Given the description of an element on the screen output the (x, y) to click on. 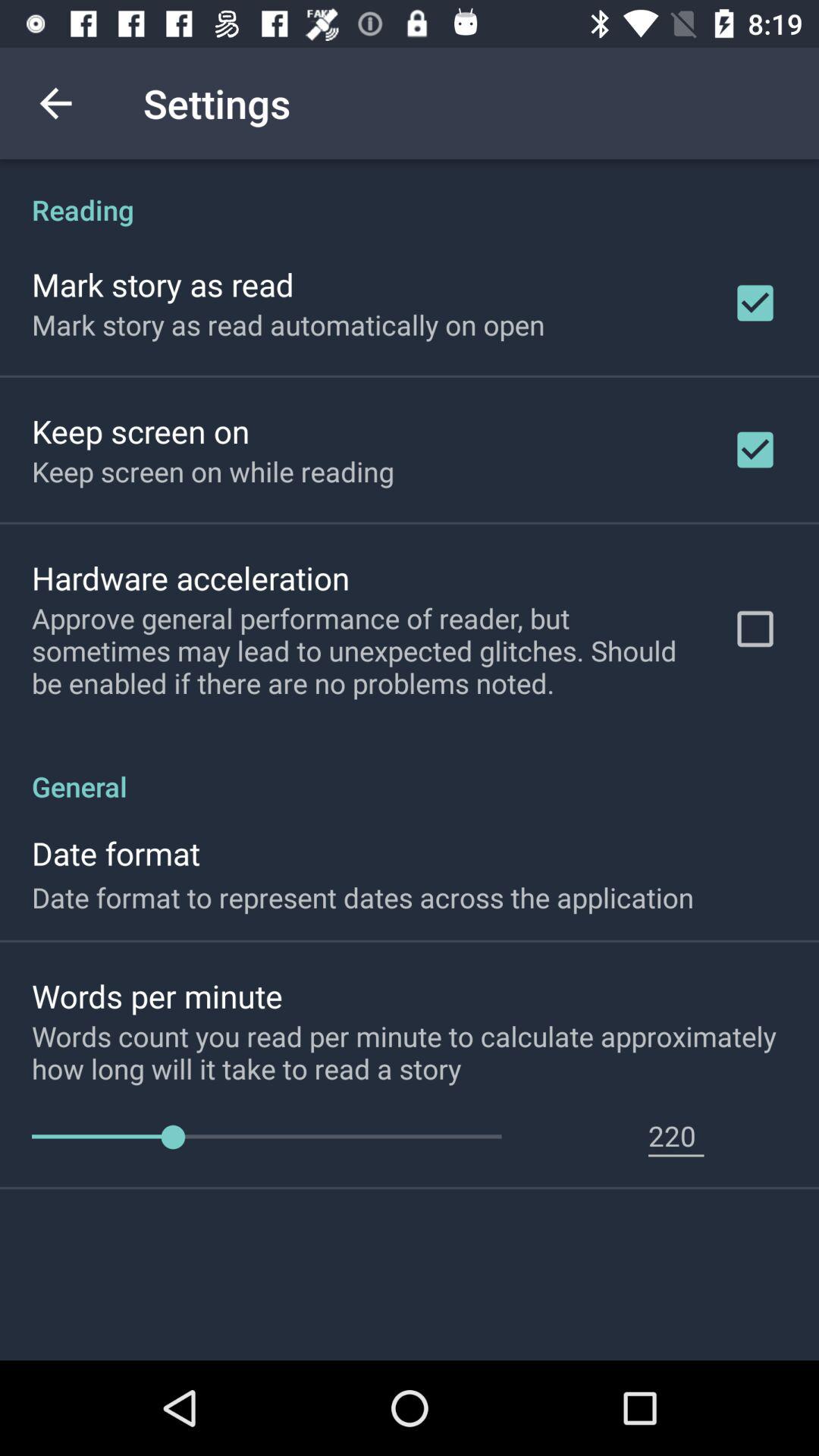
turn on 220 icon (676, 1135)
